Given the description of an element on the screen output the (x, y) to click on. 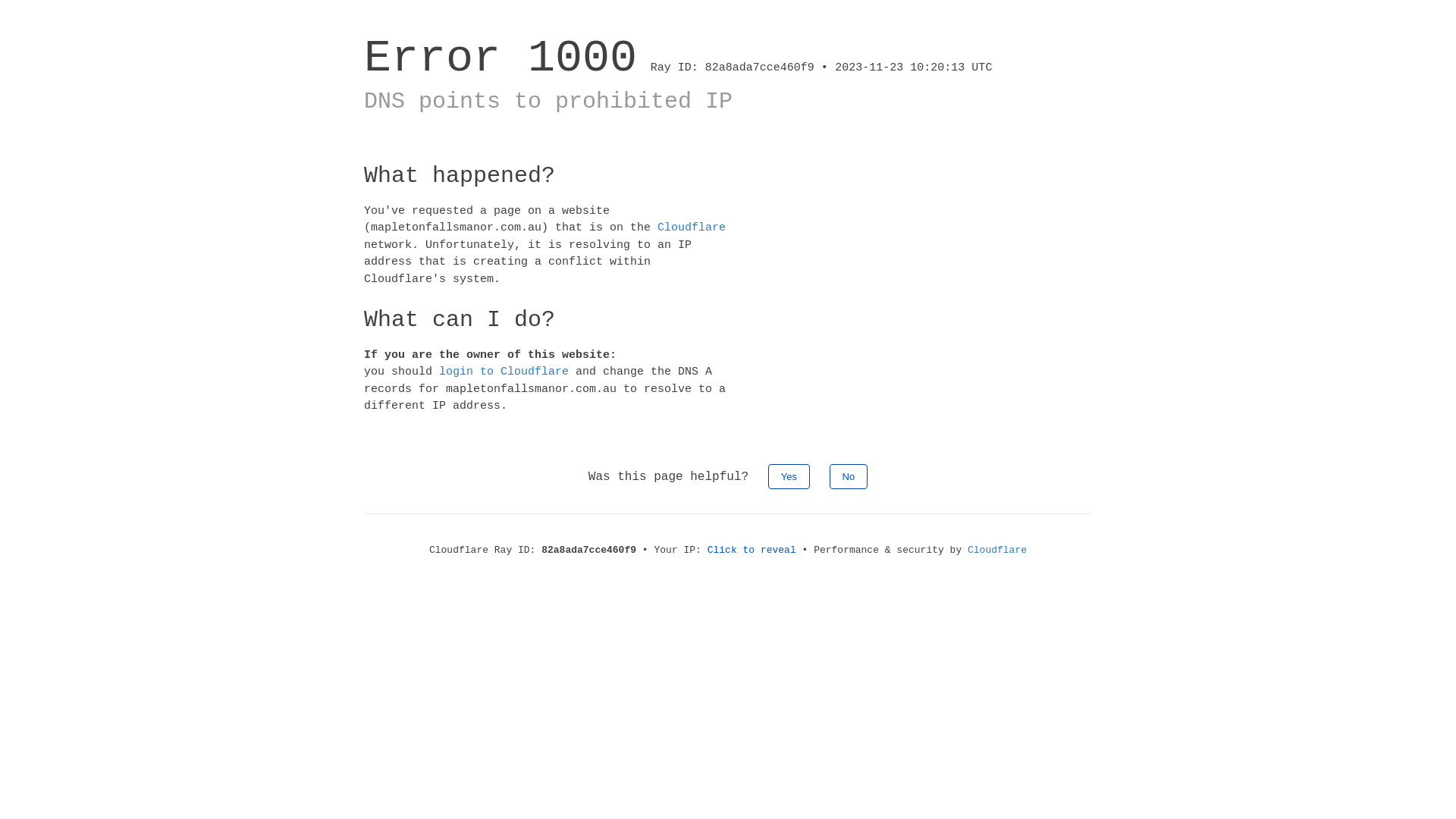
login to Cloudflare Element type: text (503, 371)
Cloudflare Element type: text (996, 549)
Yes Element type: text (788, 476)
Cloudflare Element type: text (691, 227)
No Element type: text (848, 476)
Click to reveal Element type: text (751, 549)
